Given the description of an element on the screen output the (x, y) to click on. 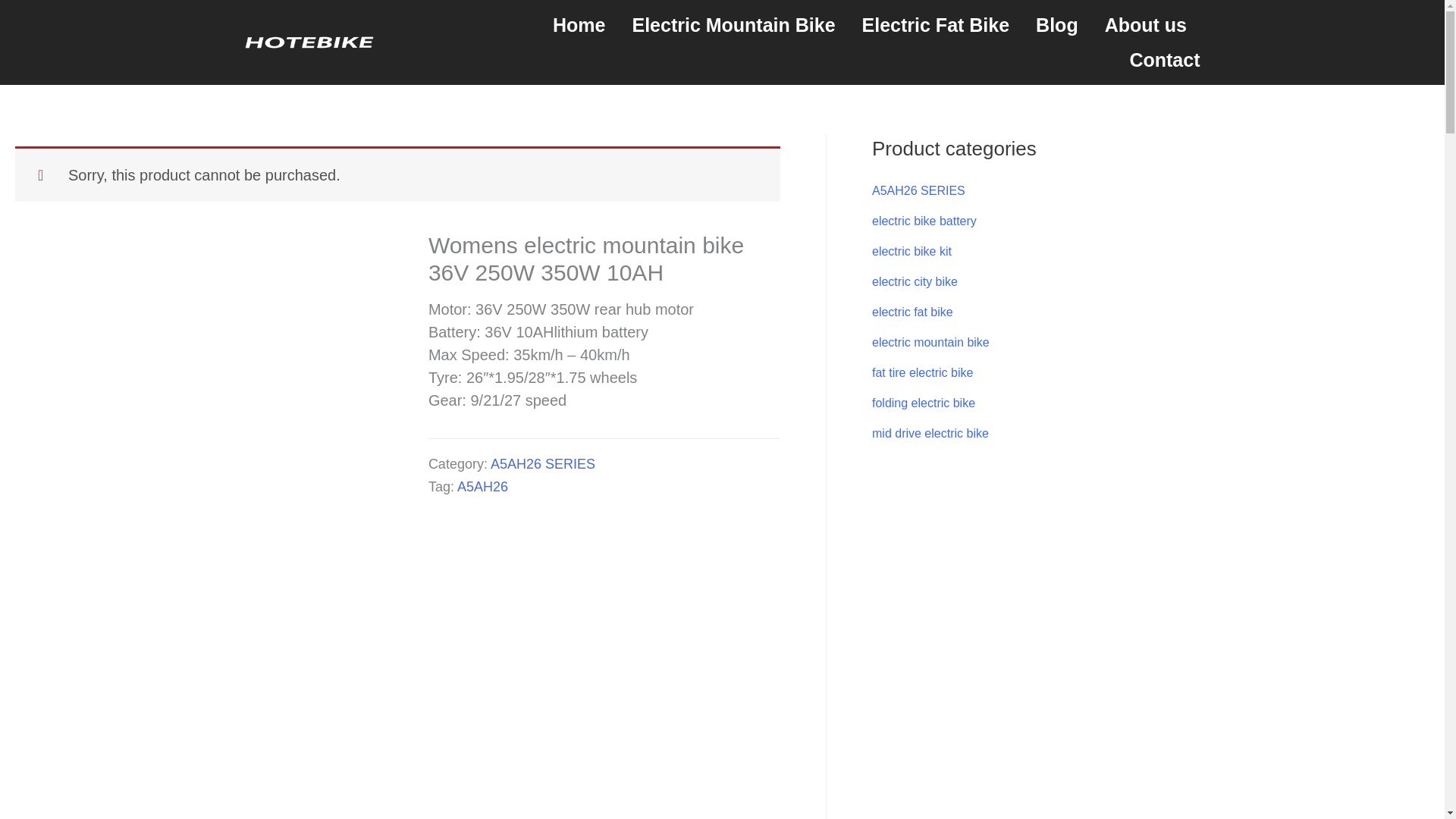
About us (1145, 24)
Blog (1056, 24)
Electric Fat Bike (935, 24)
Electric Mountain Bike (732, 24)
Home (579, 24)
Contact (1164, 59)
A5AH26 SERIES (542, 463)
A5AH26 (482, 486)
